Given the description of an element on the screen output the (x, y) to click on. 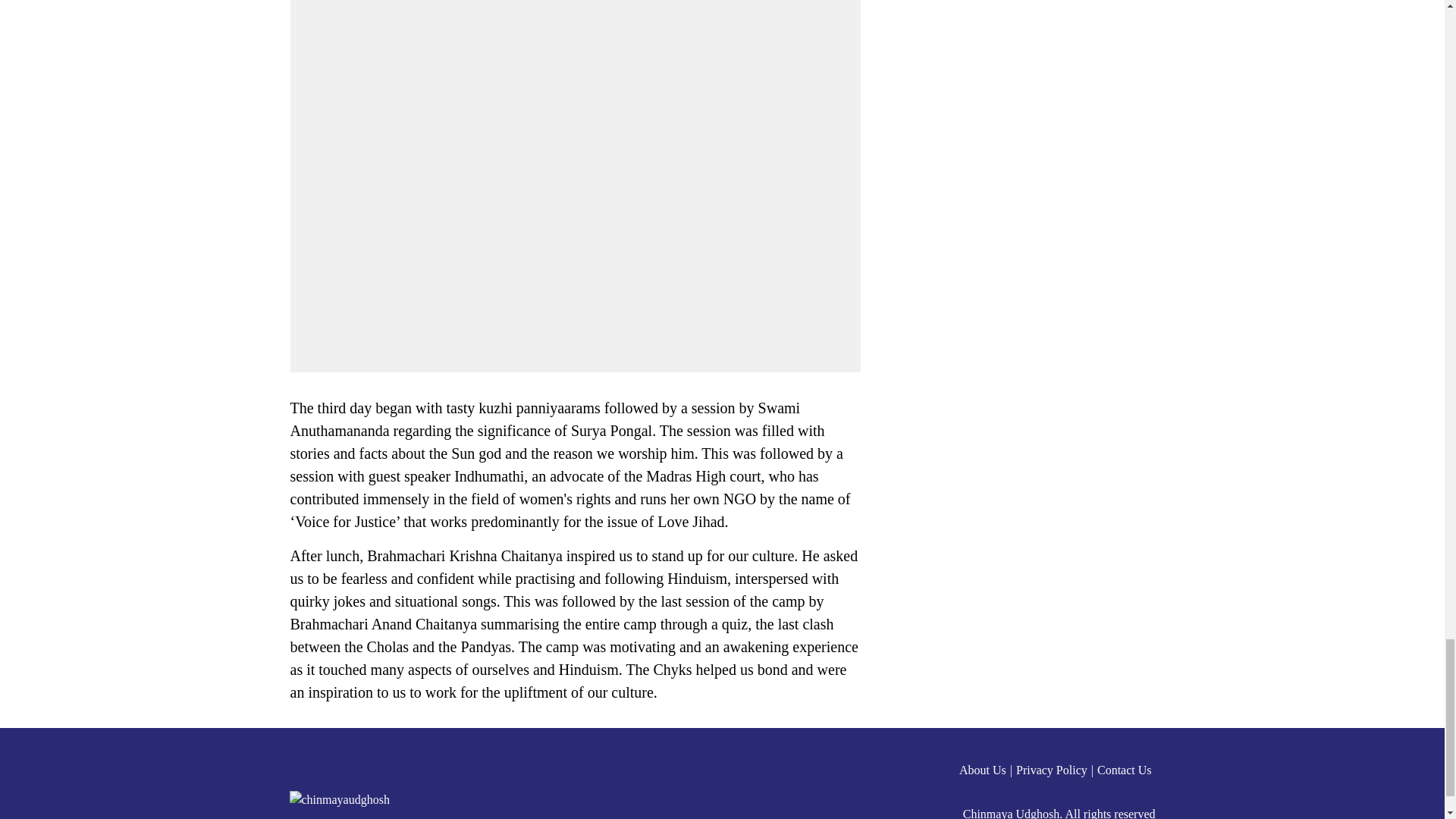
Contact Us (1126, 770)
Privacy Policy (1056, 770)
About Us (987, 770)
